Given the description of an element on the screen output the (x, y) to click on. 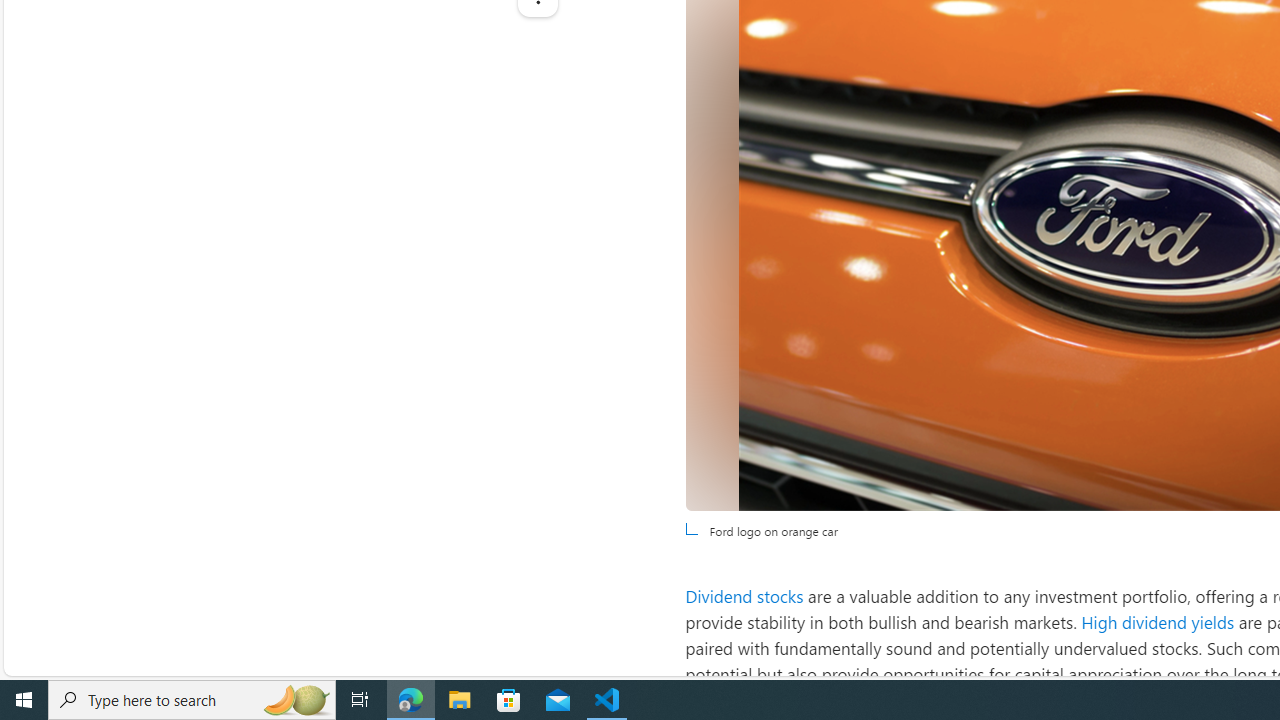
High dividend yields (1158, 621)
Dividend stocks (743, 595)
